Given the description of an element on the screen output the (x, y) to click on. 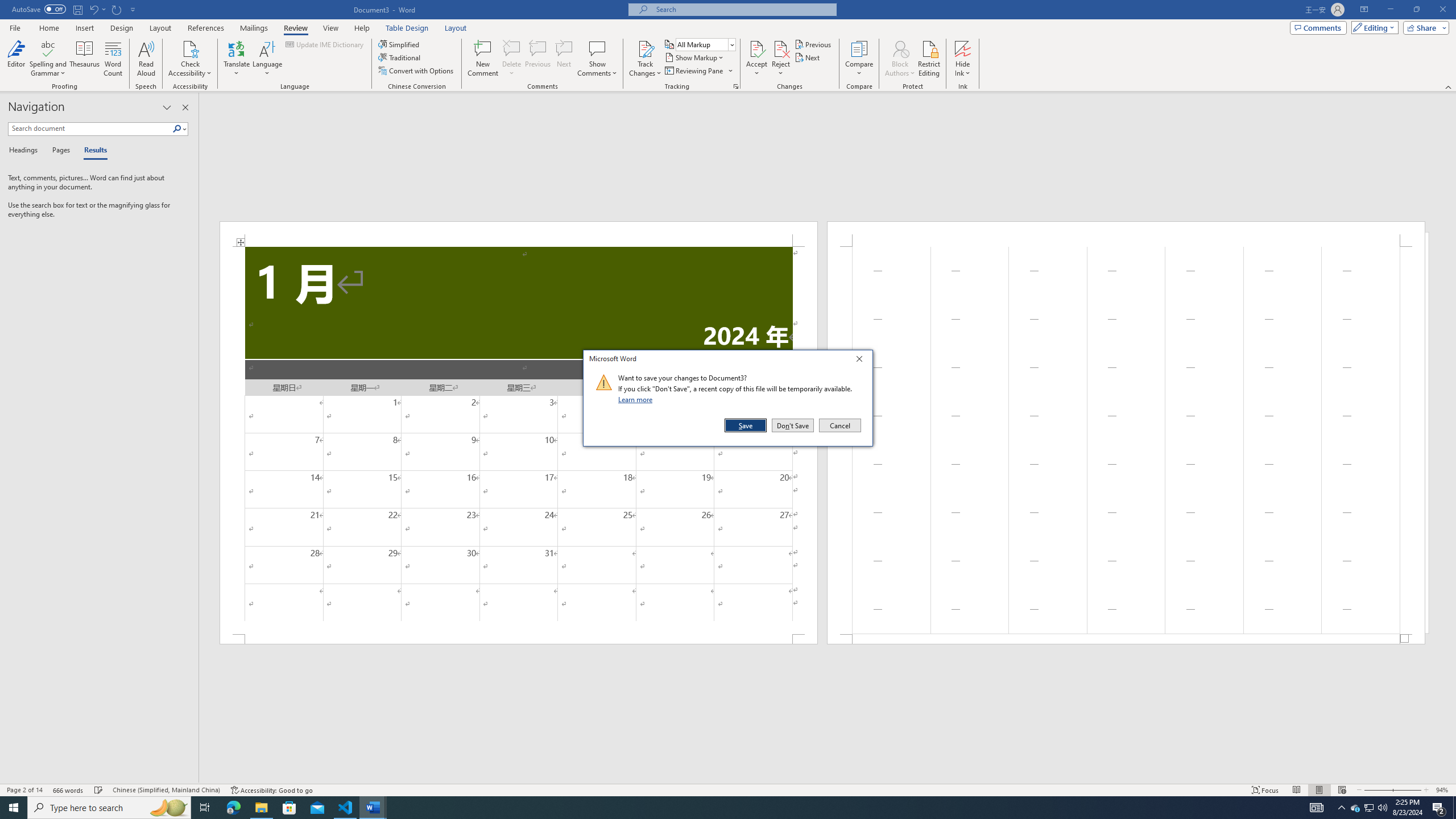
Hide Ink (962, 48)
Simplified (1368, 807)
